Given the description of an element on the screen output the (x, y) to click on. 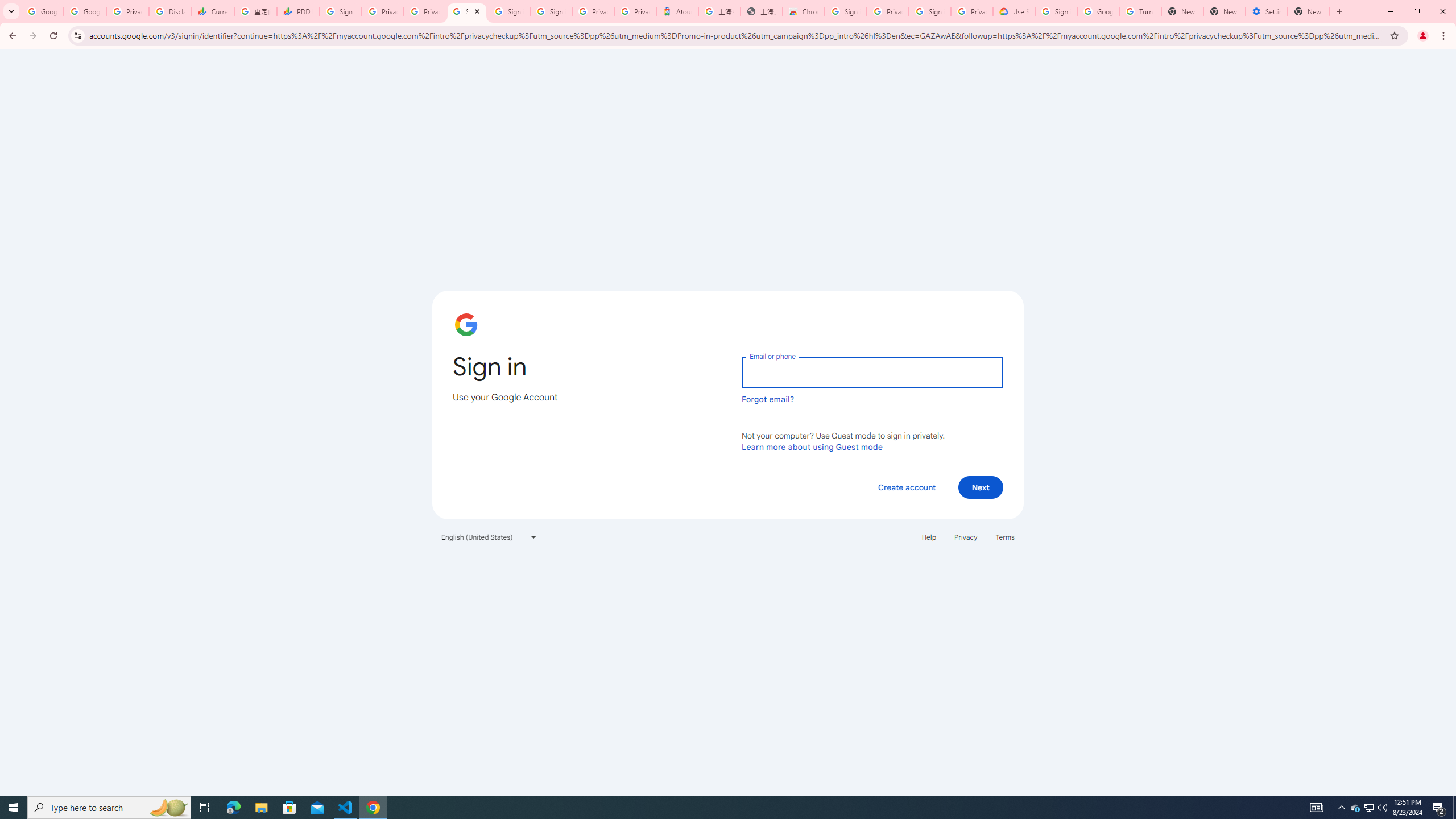
Chrome Web Store - Color themes by Chrome (803, 11)
Sign in - Google Accounts (930, 11)
Privacy Checkup (424, 11)
Sign in - Google Accounts (1055, 11)
Sign in - Google Accounts (467, 11)
